Given the description of an element on the screen output the (x, y) to click on. 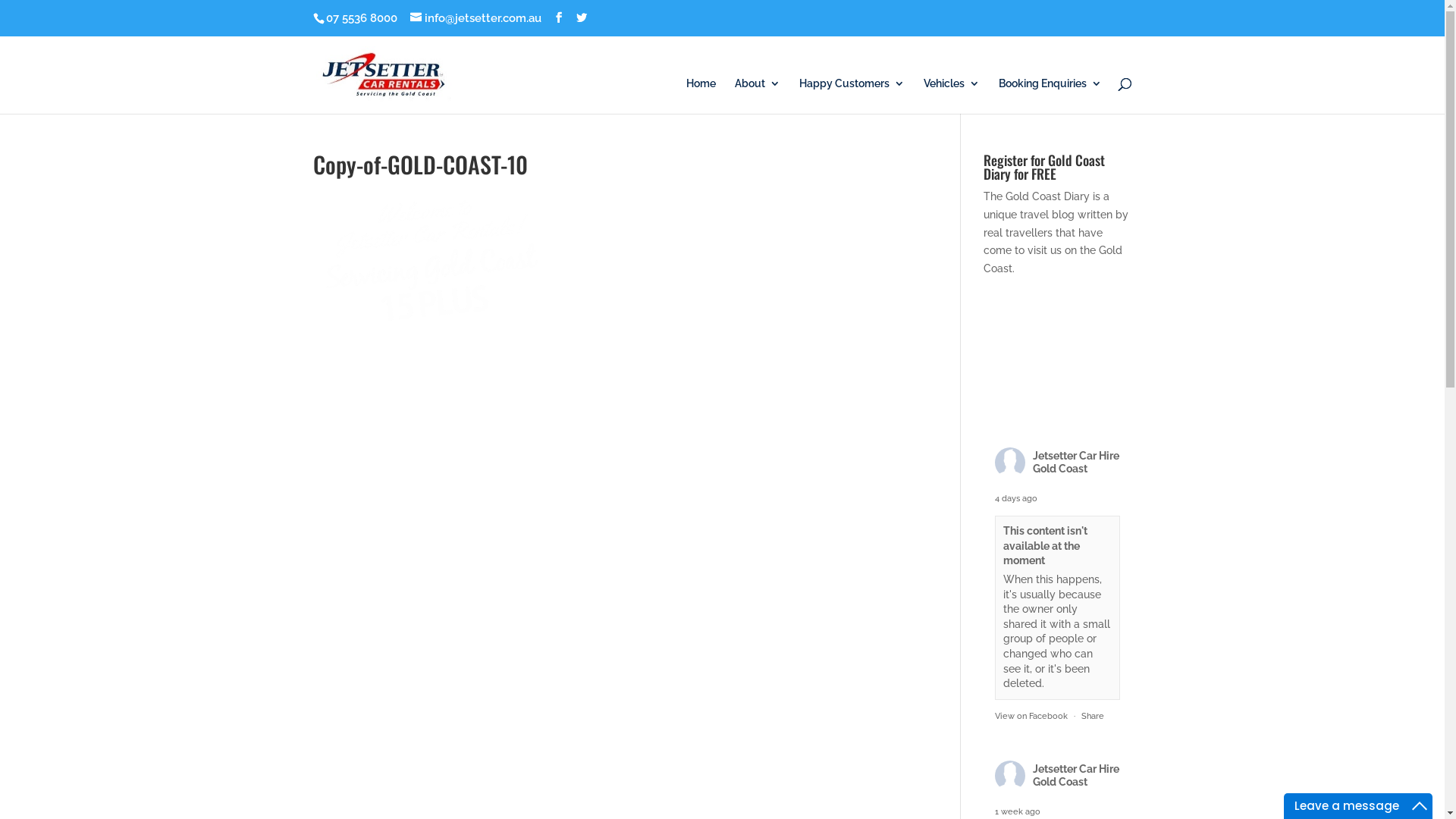
Maximize Element type: hover (1419, 806)
Jetsetter Car Hire Gold Coast Element type: text (1075, 461)
Vehicles Element type: text (951, 94)
Happy Customers Element type: text (851, 94)
Home Element type: text (700, 94)
View on Facebook Element type: text (1030, 716)
About Element type: text (756, 94)
info@jetsetter.com.au Element type: text (474, 18)
Booking Enquiries Element type: text (1049, 94)
This content isn't available at the moment Element type: text (1045, 545)
Share Element type: text (1092, 716)
Jetsetter Car Hire Gold Coast Element type: text (1075, 774)
